Given the description of an element on the screen output the (x, y) to click on. 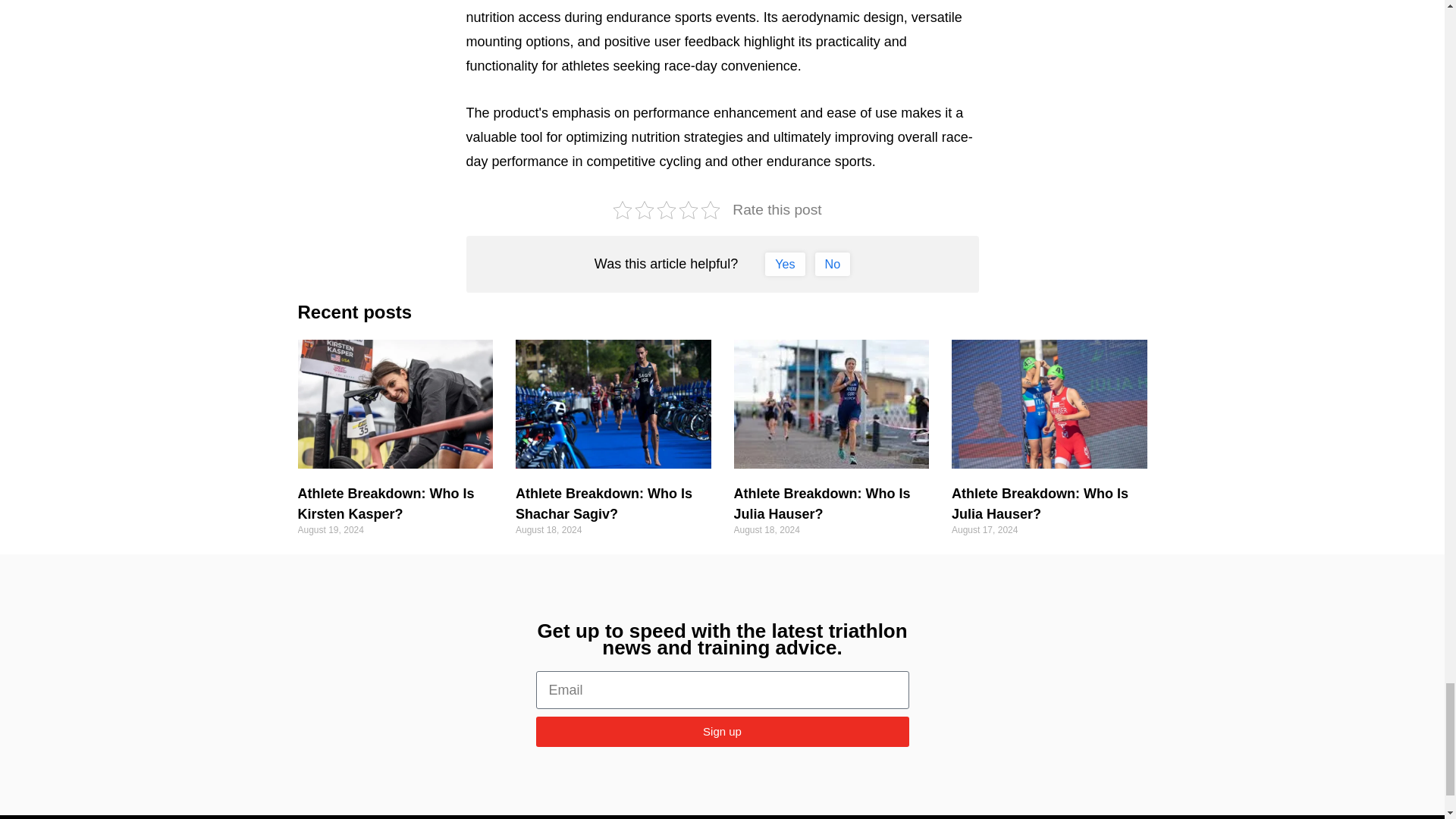
Athlete Breakdown: Who Is Shachar Sagiv? (604, 503)
Athlete Breakdown: Who Is Julia Hauser? (1040, 503)
Athlete Breakdown: Who Is Kirsten Kasper? (385, 503)
Sign up (721, 731)
Athlete Breakdown: Who Is Julia Hauser? (822, 503)
